Given the description of an element on the screen output the (x, y) to click on. 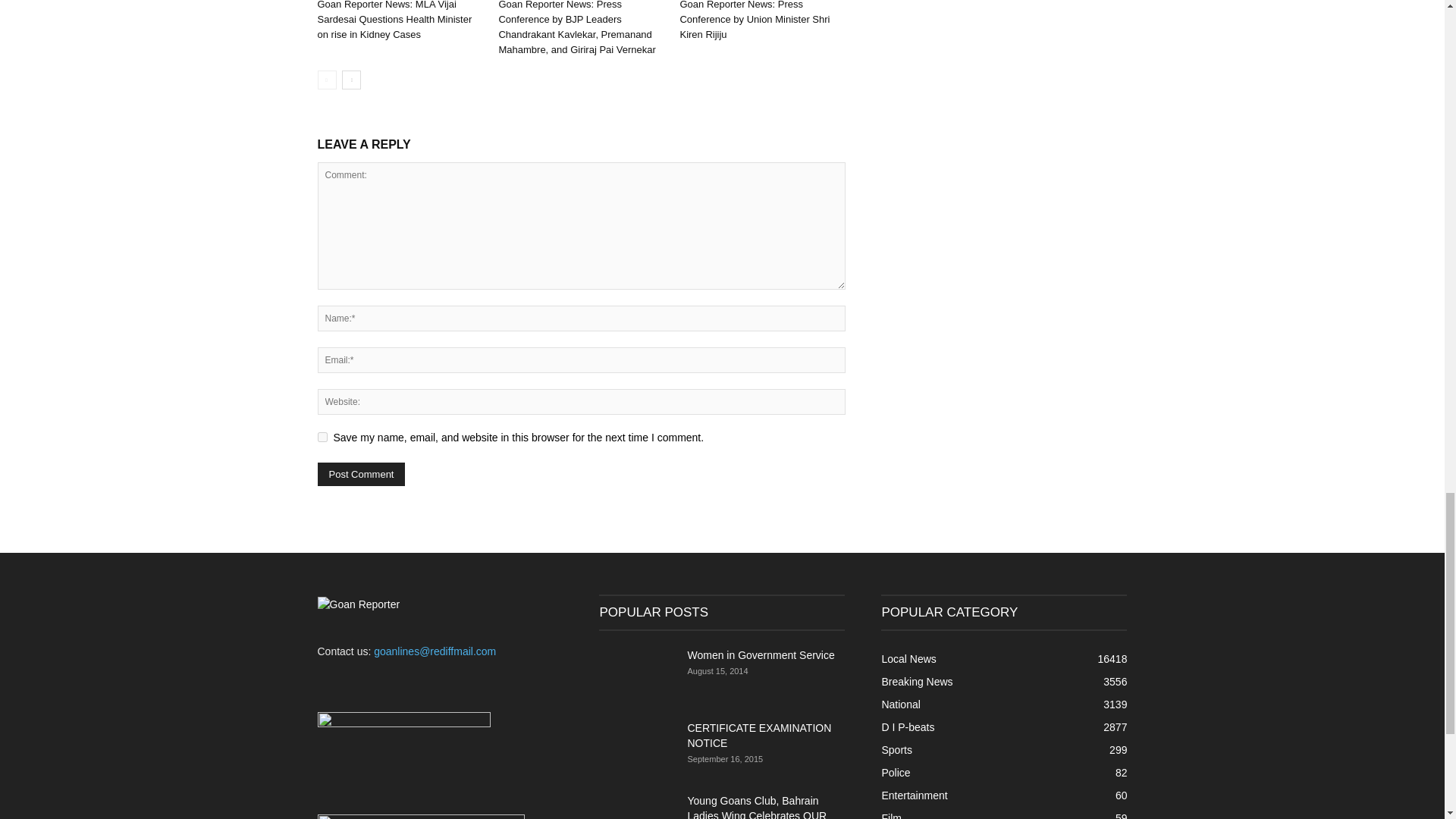
yes (321, 437)
Post Comment (360, 474)
Goan Reporter (357, 604)
